Given the description of an element on the screen output the (x, y) to click on. 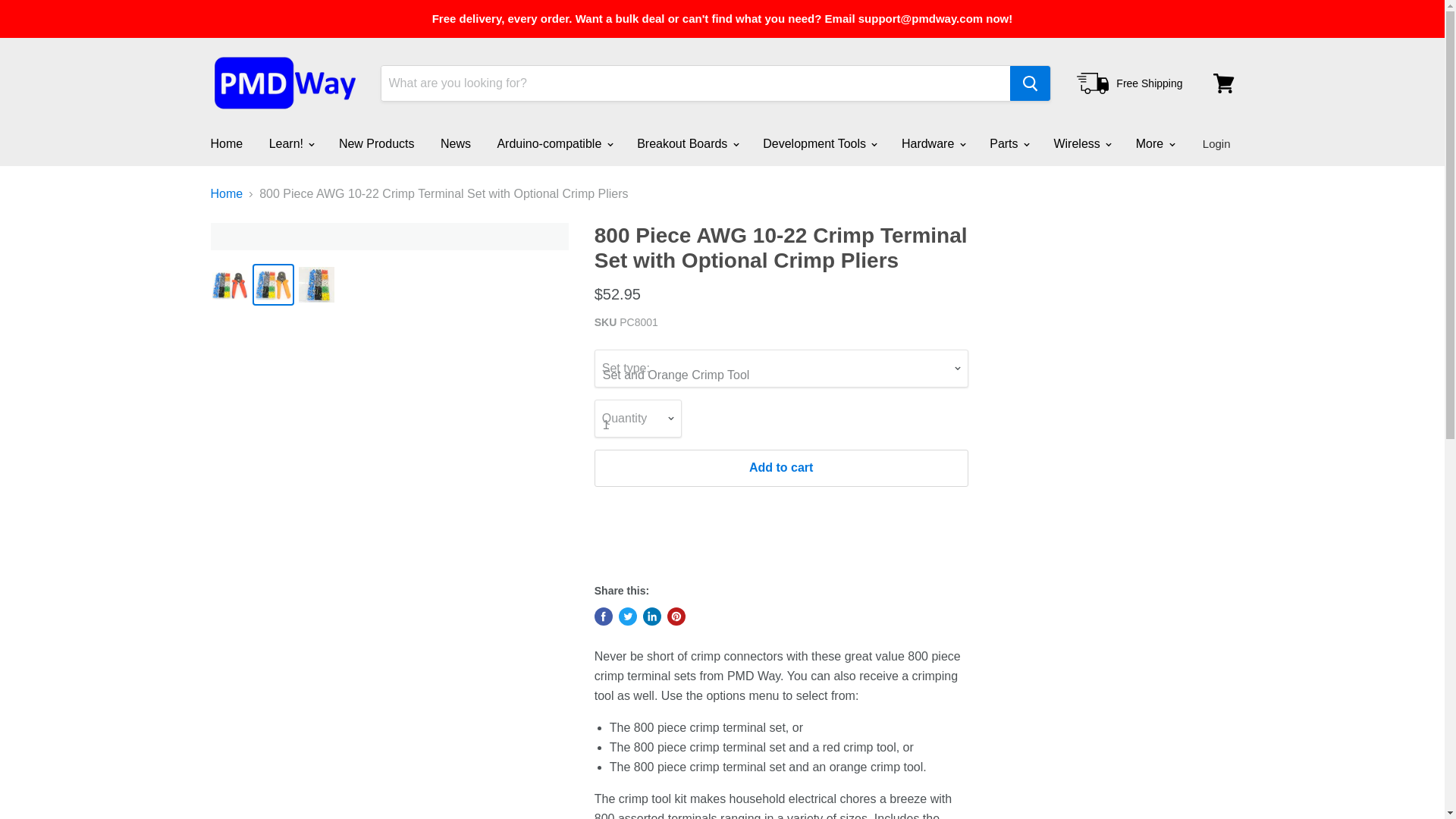
Learn! (290, 143)
New Products (376, 143)
Home (225, 143)
Arduino-compatible (552, 143)
News (455, 143)
View cart (1223, 83)
